Given the description of an element on the screen output the (x, y) to click on. 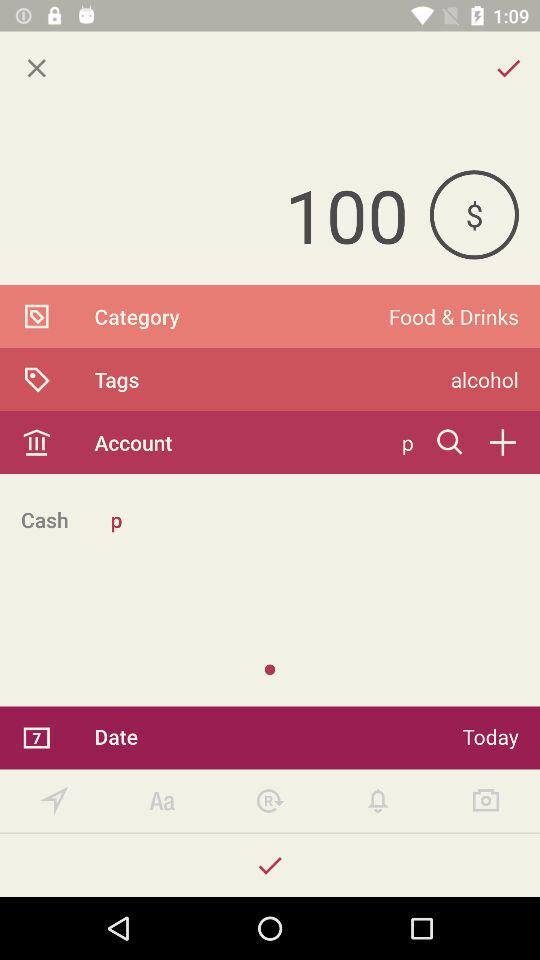
set location (54, 800)
